Given the description of an element on the screen output the (x, y) to click on. 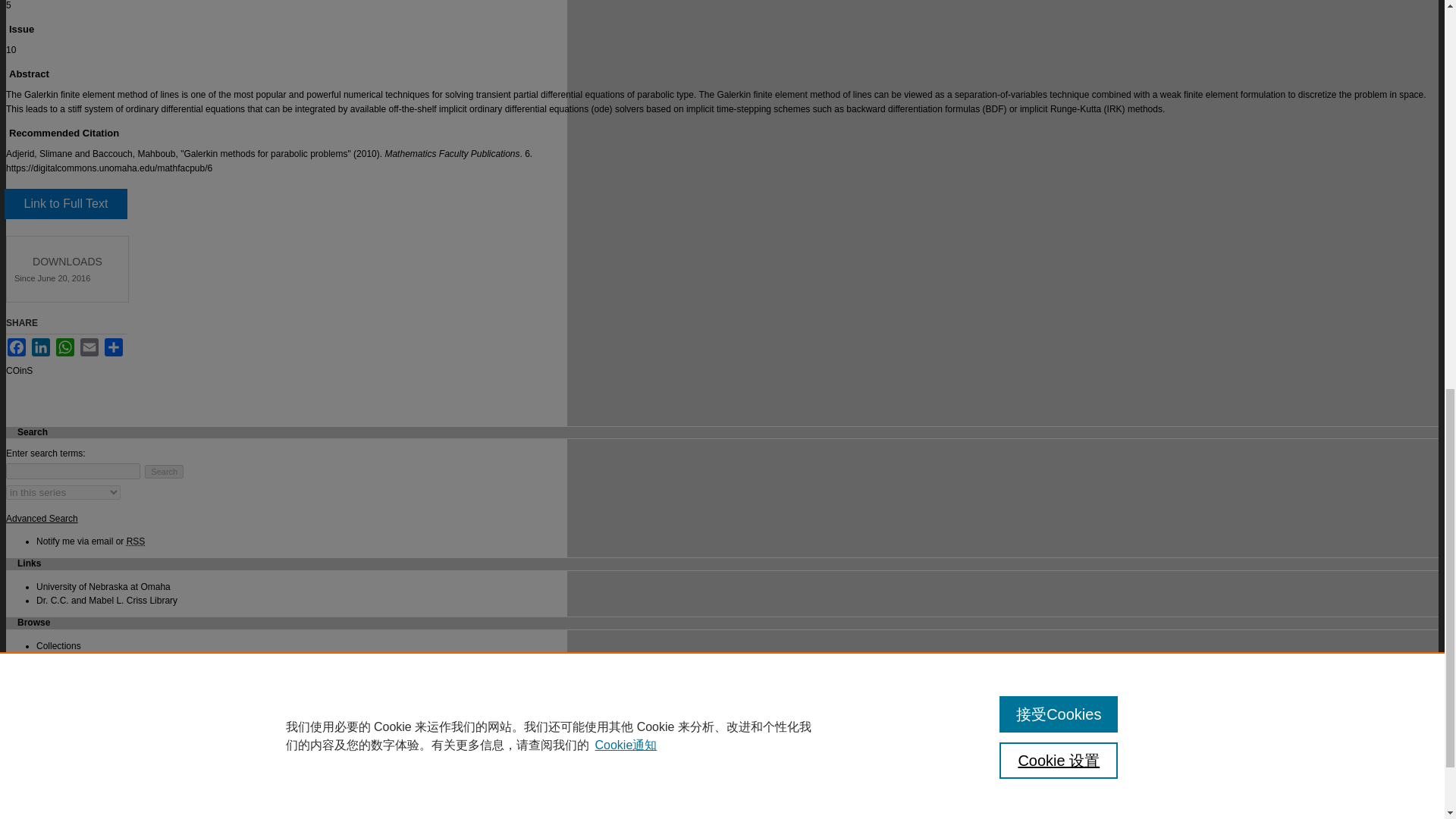
Link opens in new window (66, 204)
Advanced Search (41, 518)
WhatsApp (65, 347)
Search (163, 471)
Link to Full Text (66, 204)
LinkedIn (40, 347)
Browse by Collections (58, 645)
Notify me via email or RSS (90, 541)
Collections (58, 645)
Facebook (16, 347)
Disciplines (58, 659)
Search (163, 471)
Email or RSS Notifications (90, 541)
Authors (51, 673)
Dr. C.C. and Mabel L. Criss Library (106, 600)
